Given the description of an element on the screen output the (x, y) to click on. 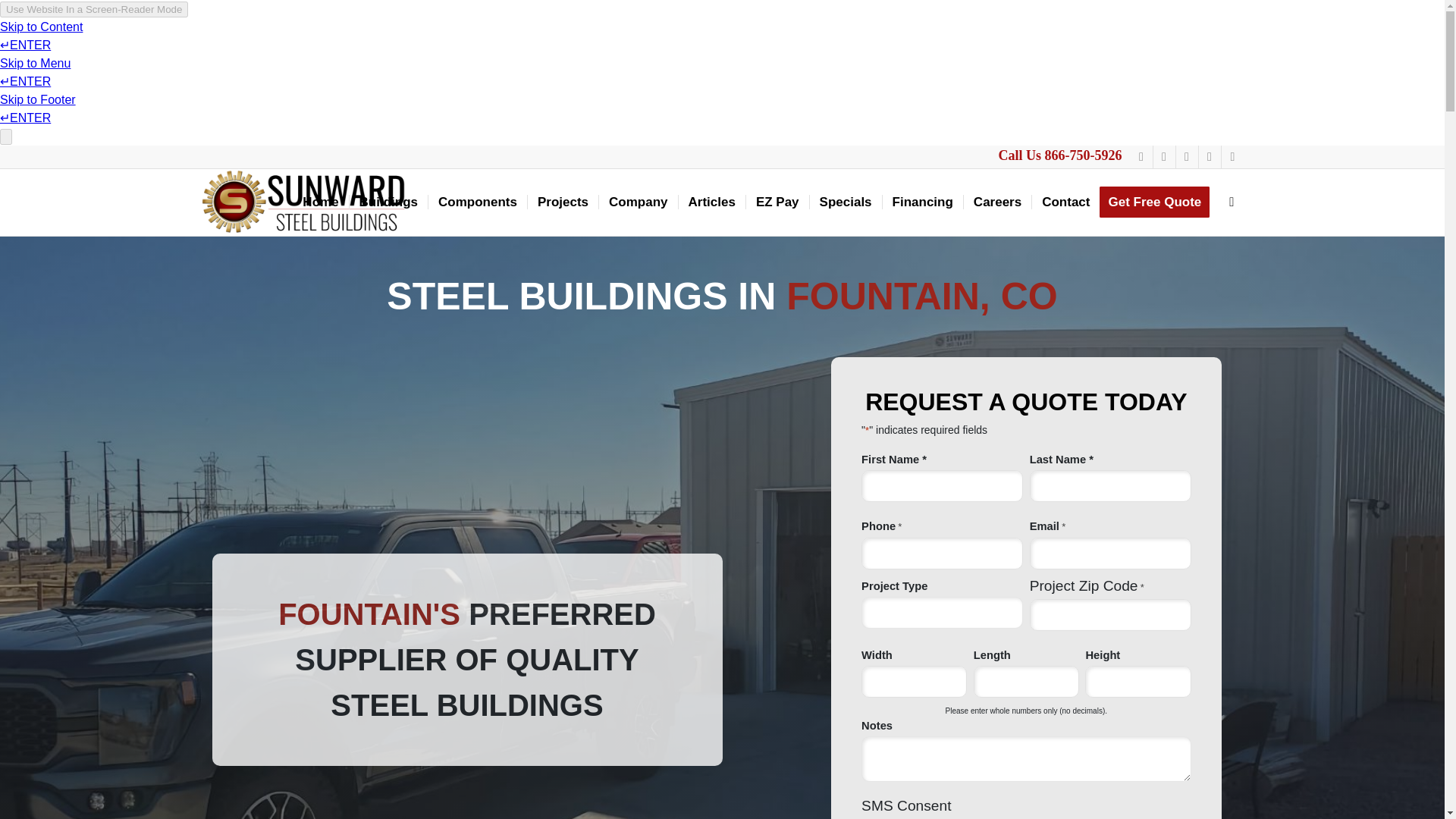
LinkedIn (1185, 156)
Facebook (1140, 156)
Instagram (1163, 156)
Twitter (1232, 156)
Youtube (1209, 156)
Sunward-Steel-Buildings (303, 201)
